Given the description of an element on the screen output the (x, y) to click on. 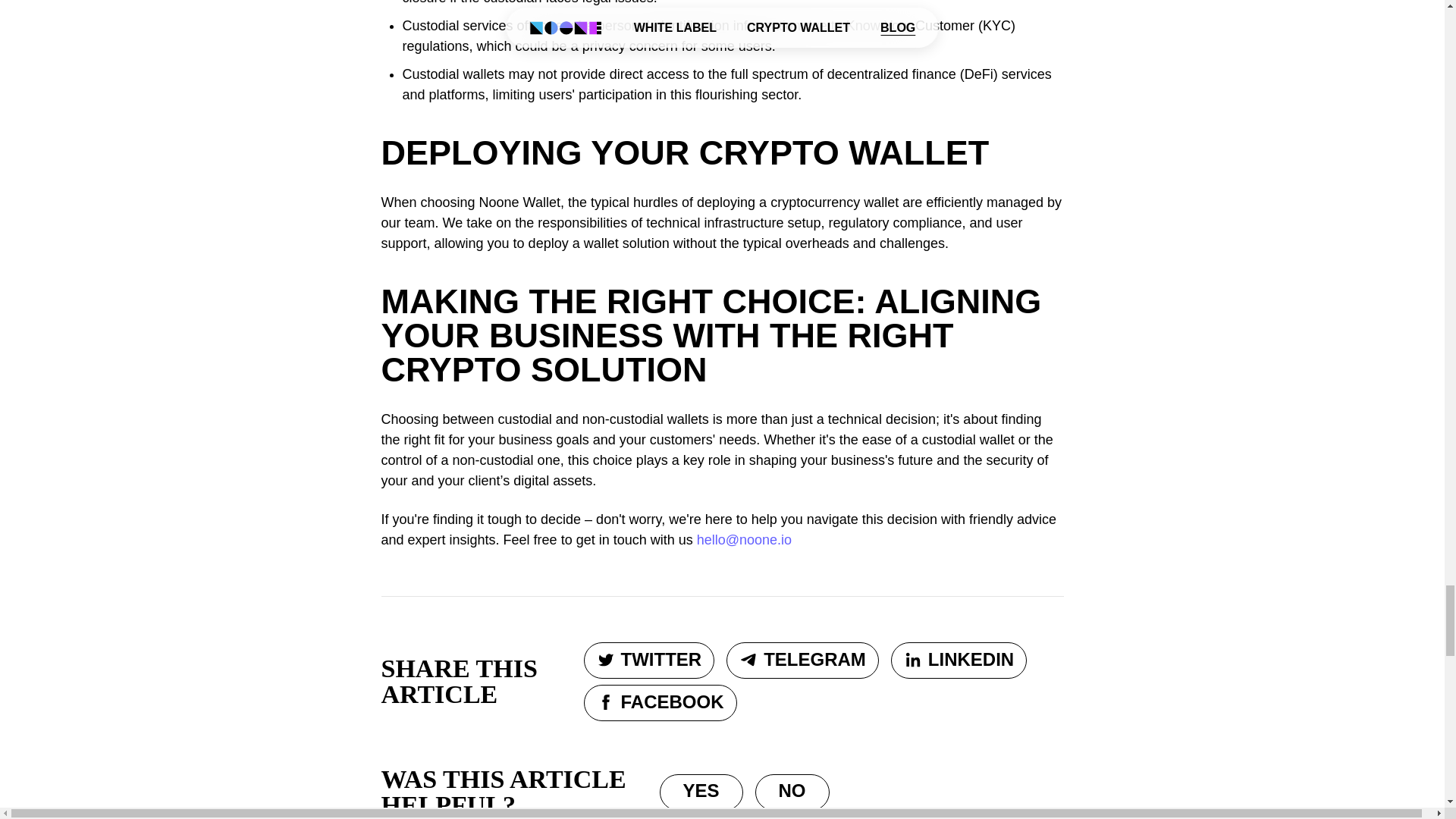
TWITTER (648, 660)
YES (700, 791)
FACEBOOK (659, 702)
LINKEDIN (958, 660)
TELEGRAM (802, 660)
NO (792, 791)
